Given the description of an element on the screen output the (x, y) to click on. 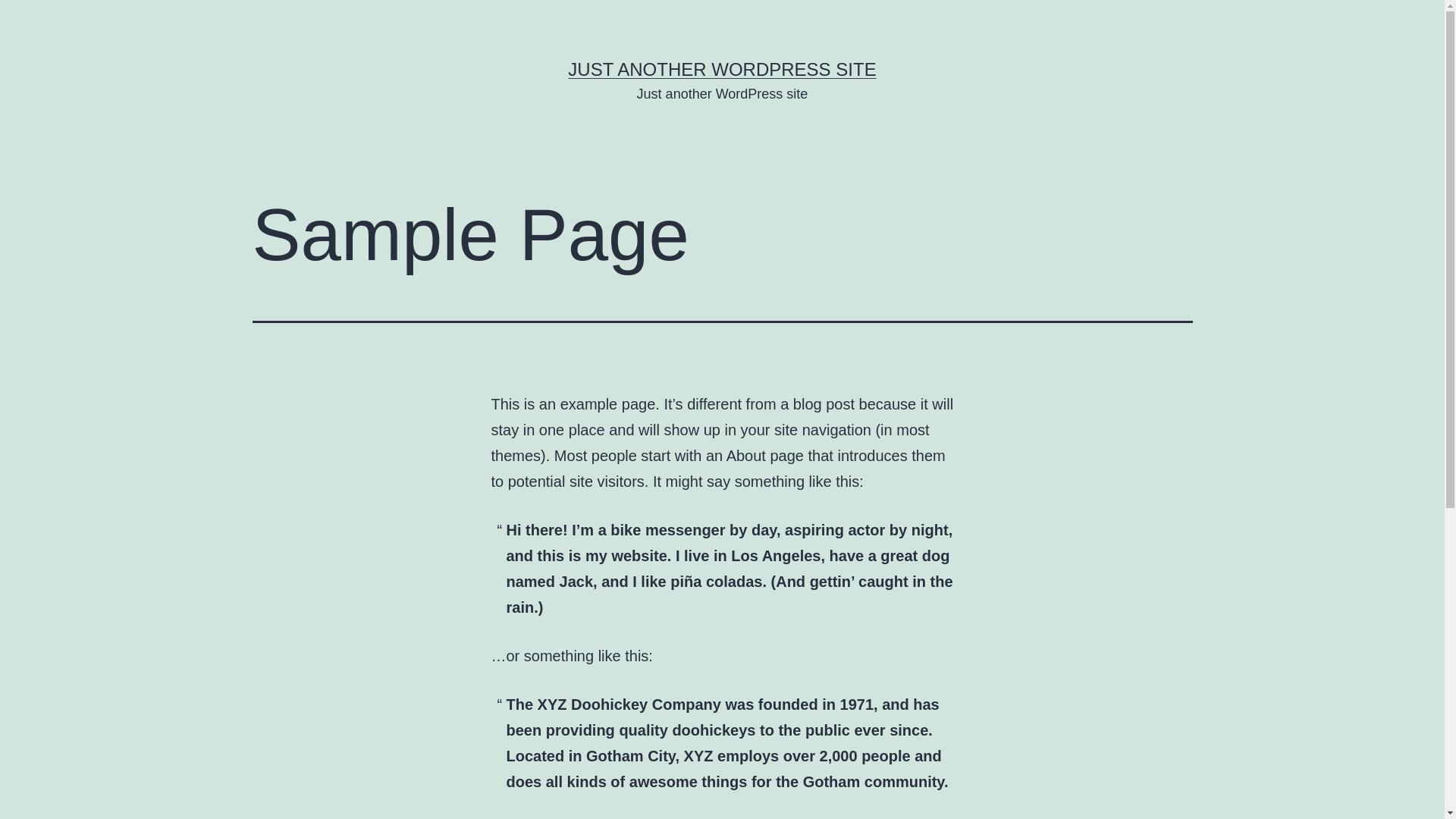
JUST ANOTHER WORDPRESS SITE Element type: text (721, 69)
